Given the description of an element on the screen output the (x, y) to click on. 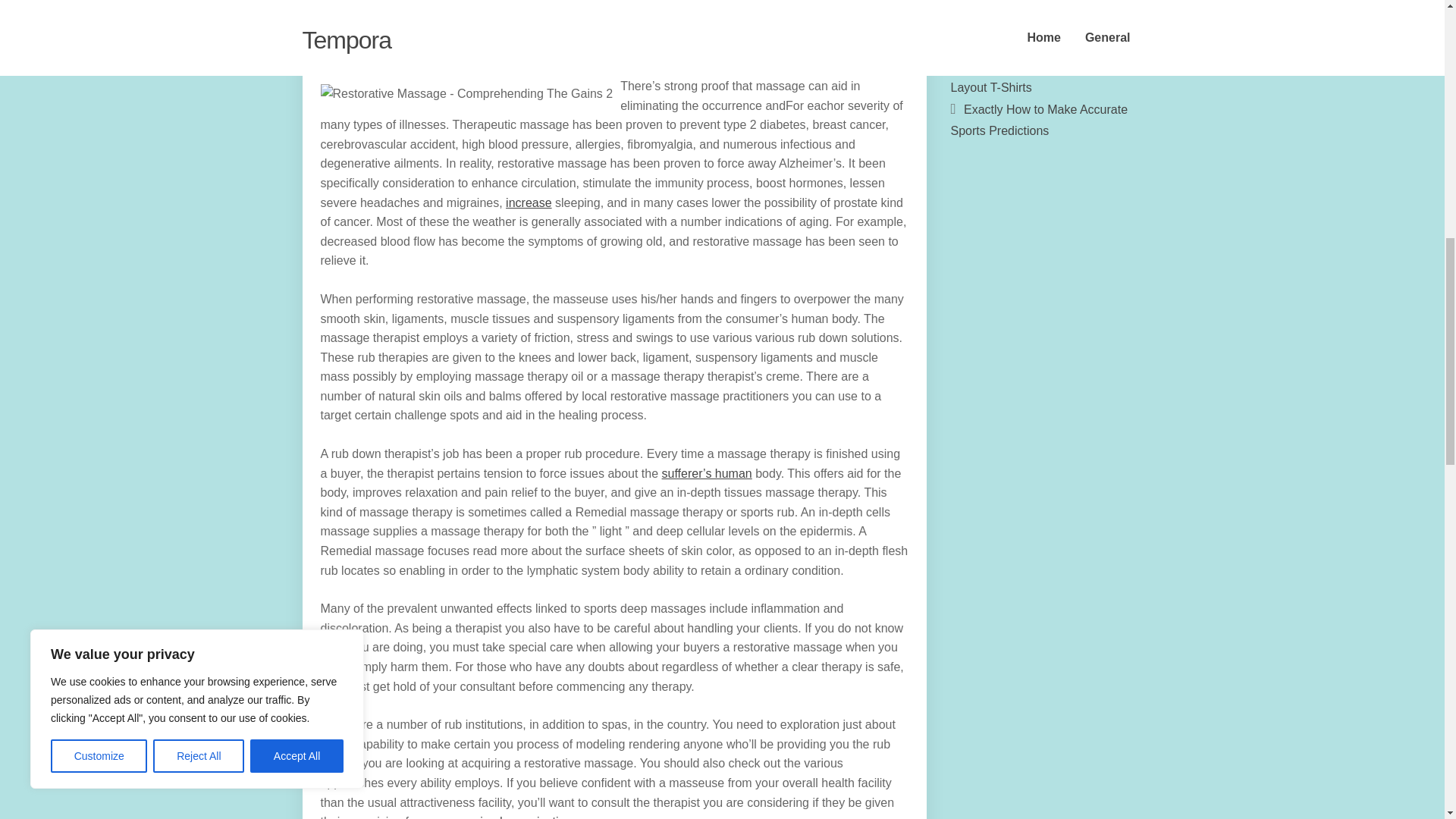
recognized organization (507, 816)
increase (528, 202)
